Given the description of an element on the screen output the (x, y) to click on. 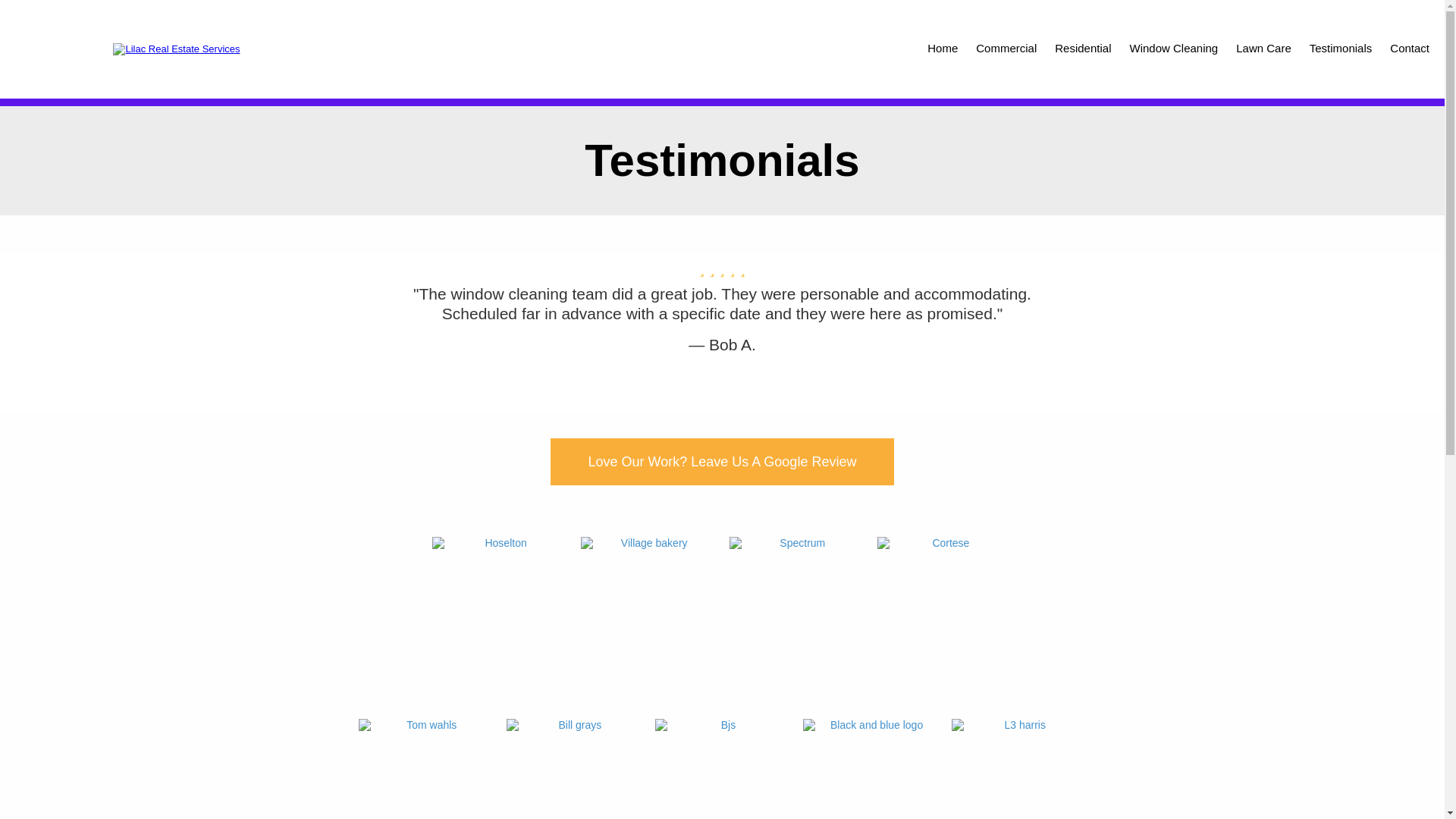
Testimonials (1340, 48)
Love Our Work? Leave Us A Google Review (722, 461)
Residential (1082, 48)
Home (942, 48)
Commercial (1005, 48)
Lawn Care (1263, 48)
Contact (1409, 48)
Window Cleaning (1173, 48)
